Given the description of an element on the screen output the (x, y) to click on. 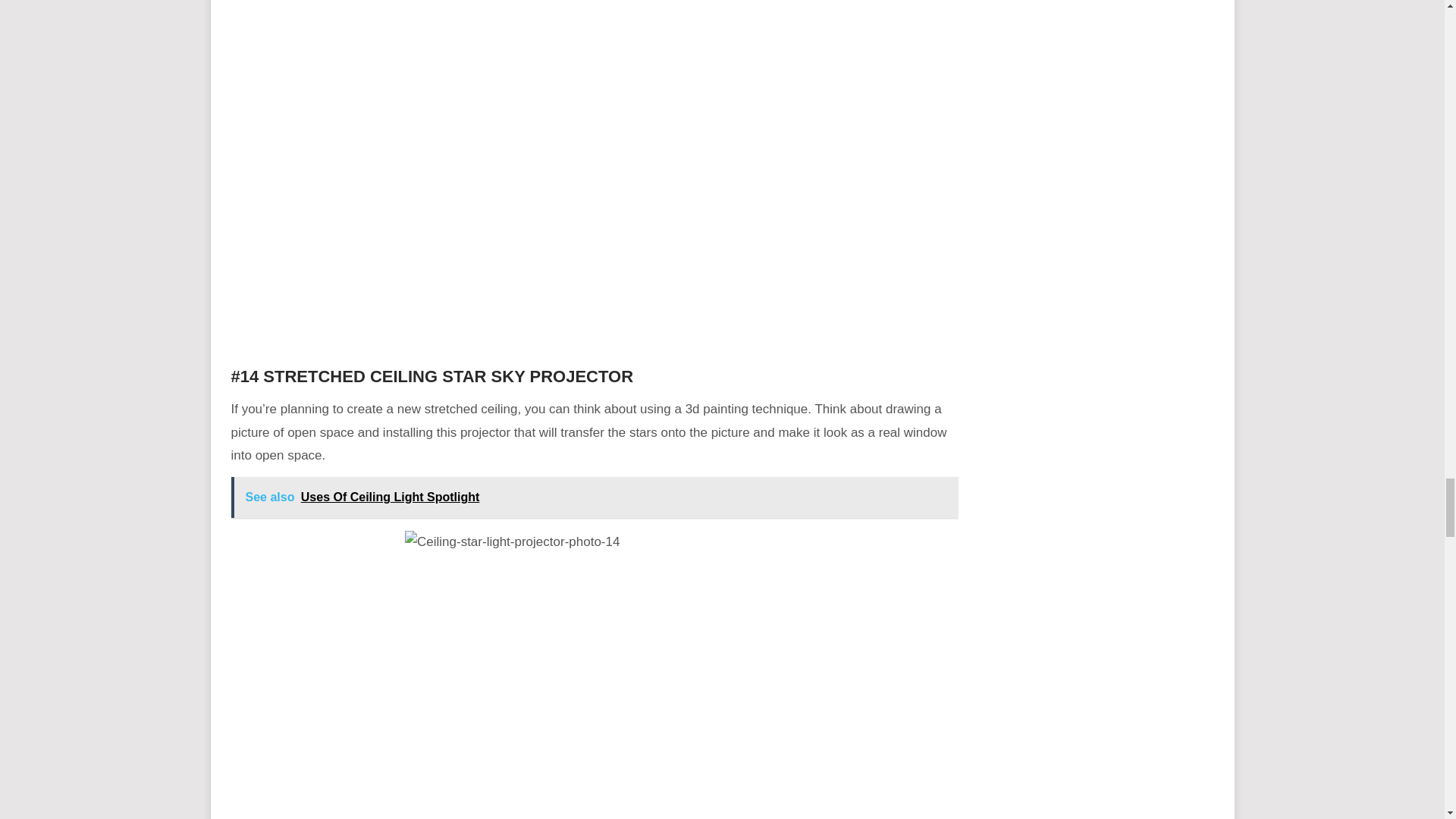
See also  Uses Of Ceiling Light Spotlight (594, 496)
